Given the description of an element on the screen output the (x, y) to click on. 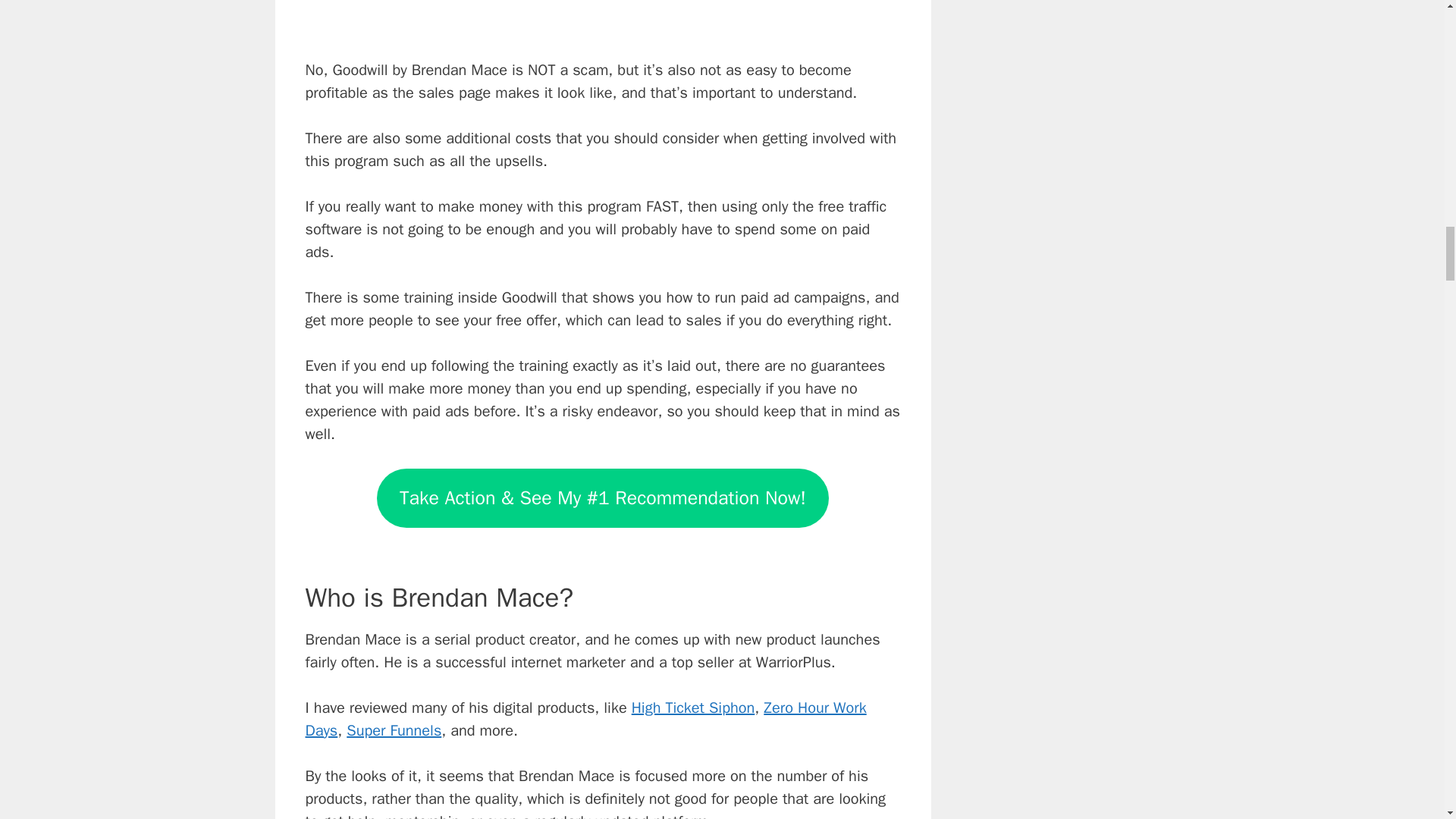
Zero Hour Work Days (585, 719)
High Ticket Siphon (693, 707)
Super Funnels (393, 730)
